Given the description of an element on the screen output the (x, y) to click on. 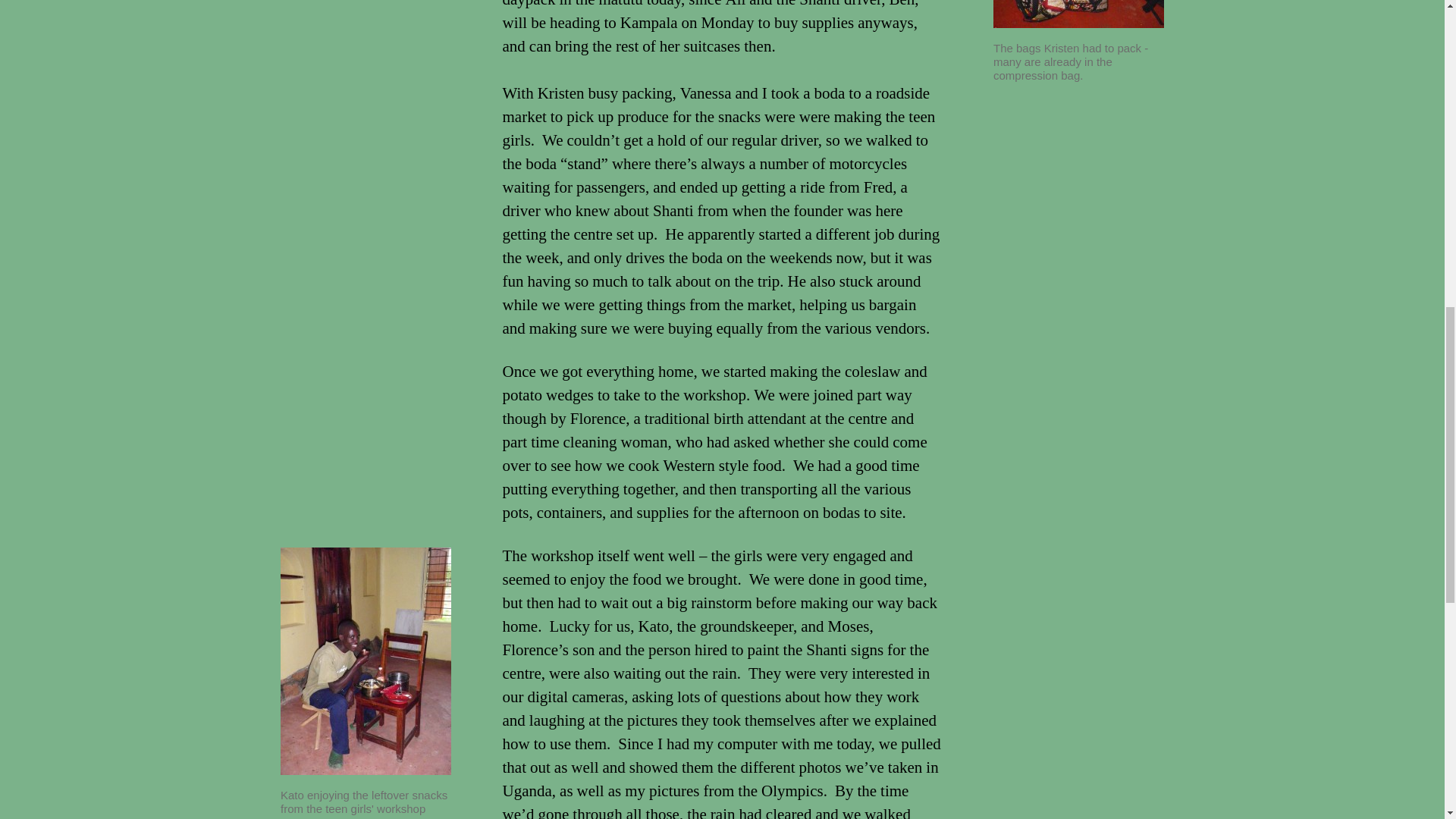
IMGP0360 (366, 660)
IMGP0341 (1077, 13)
